Given the description of an element on the screen output the (x, y) to click on. 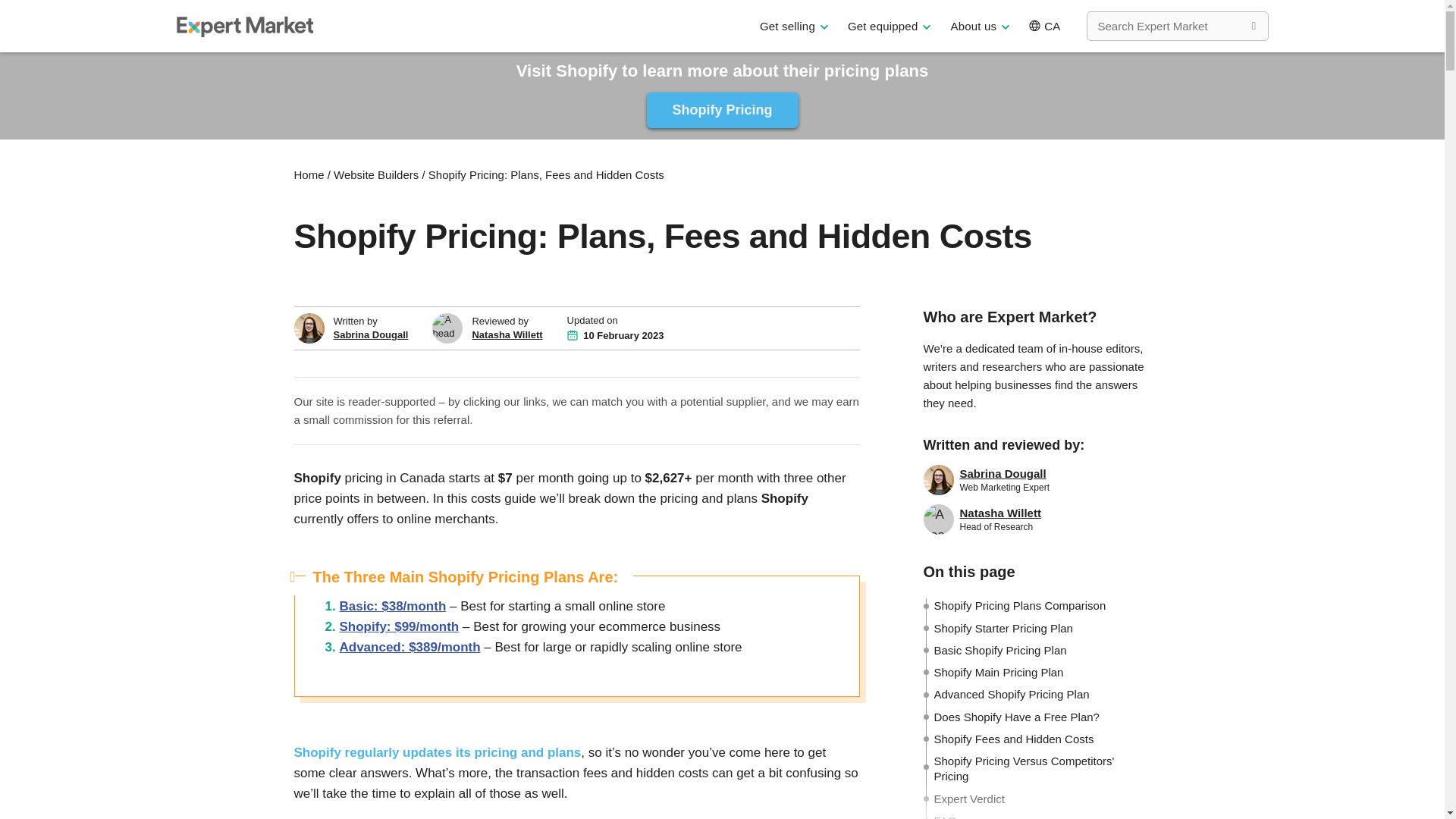
Get selling (794, 25)
About us (979, 25)
ExpertMarket (244, 25)
Get equipped (888, 25)
CA (1043, 25)
